Given the description of an element on the screen output the (x, y) to click on. 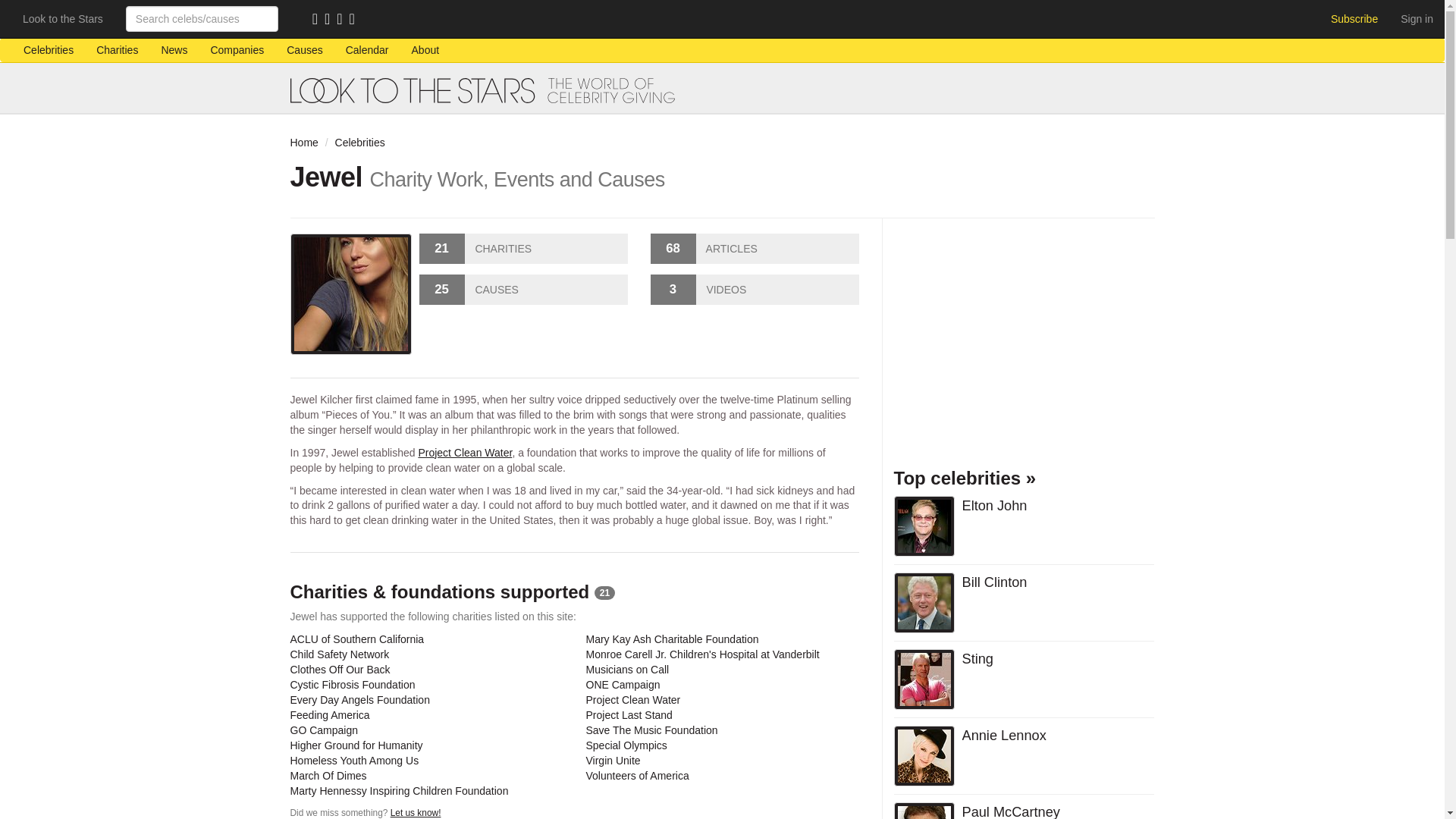
RSS feed (318, 20)
2396 charities with celebrity supporters (116, 49)
About (425, 49)
Celebrities (47, 49)
Cystic Fibrosis Foundation (351, 684)
Follow us on Twitter (342, 20)
Subscribe (1354, 18)
ACLU of Southern California (356, 639)
25 CAUSES (523, 289)
Twitter (342, 20)
